Given the description of an element on the screen output the (x, y) to click on. 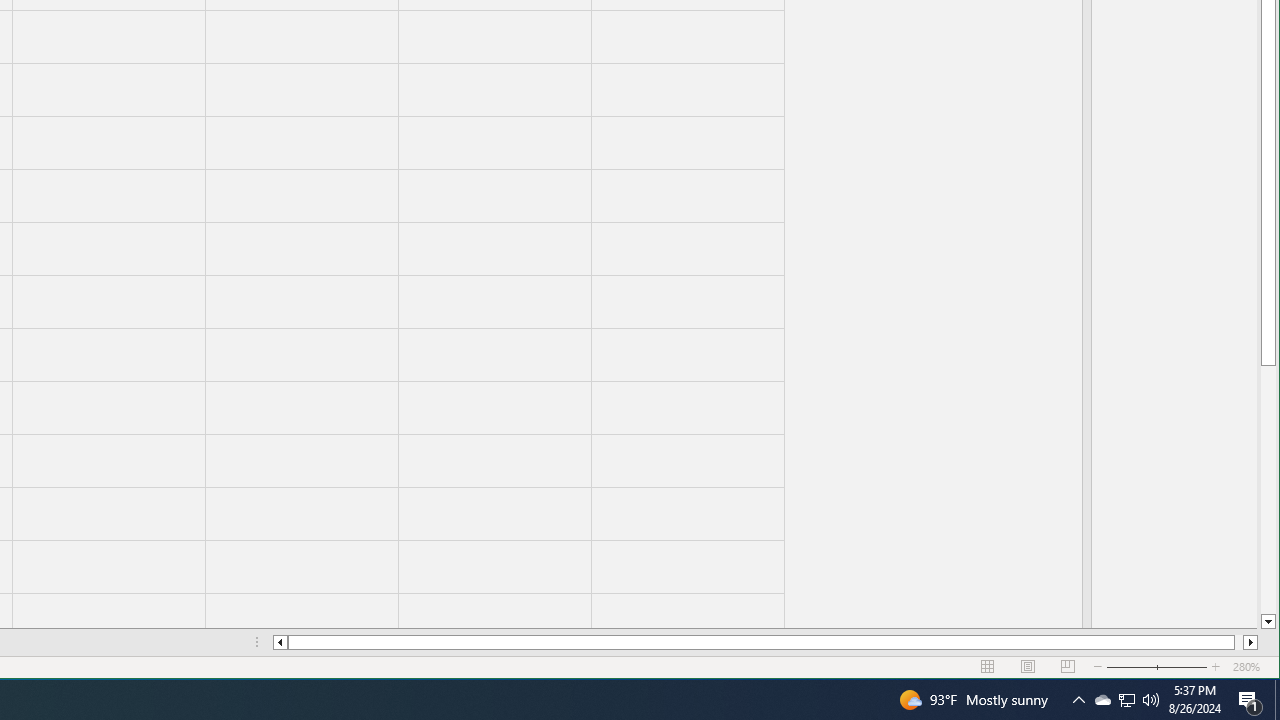
Action Center, 1 new notification (1250, 699)
User Promoted Notification Area (1102, 699)
Show desktop (1126, 699)
Q2790: 100% (1126, 699)
